Given the description of an element on the screen output the (x, y) to click on. 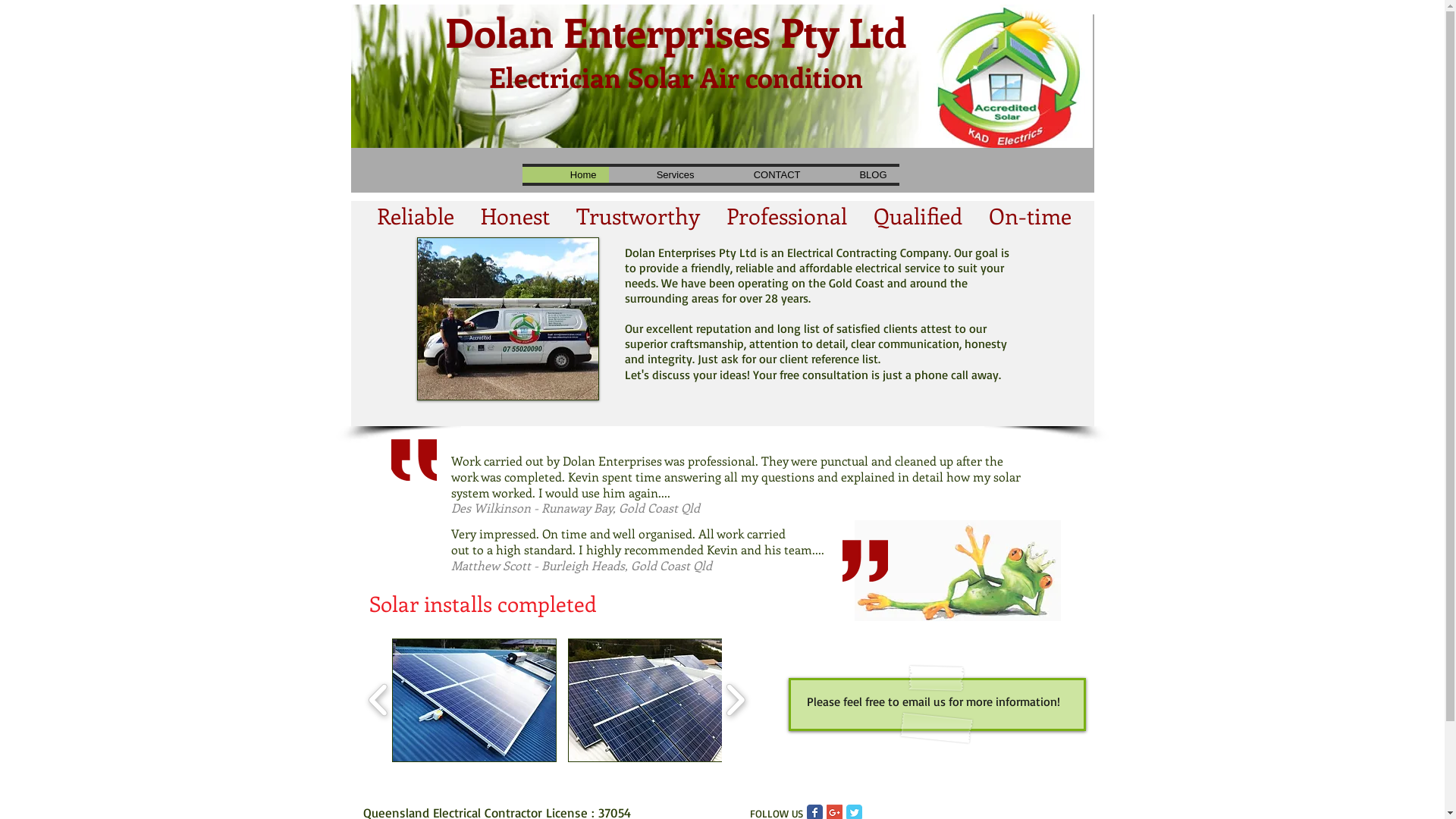
Services Element type: text (657, 174)
cardistance.jpg Element type: hover (508, 318)
logobanner4.jpg Element type: hover (721, 75)
Home Element type: text (564, 174)
BLOG Element type: text (855, 174)
Please feel free to email us for more information! Element type: text (940, 701)
frog.jpg Element type: hover (956, 570)
CONTACT Element type: text (759, 174)
